Given the description of an element on the screen output the (x, y) to click on. 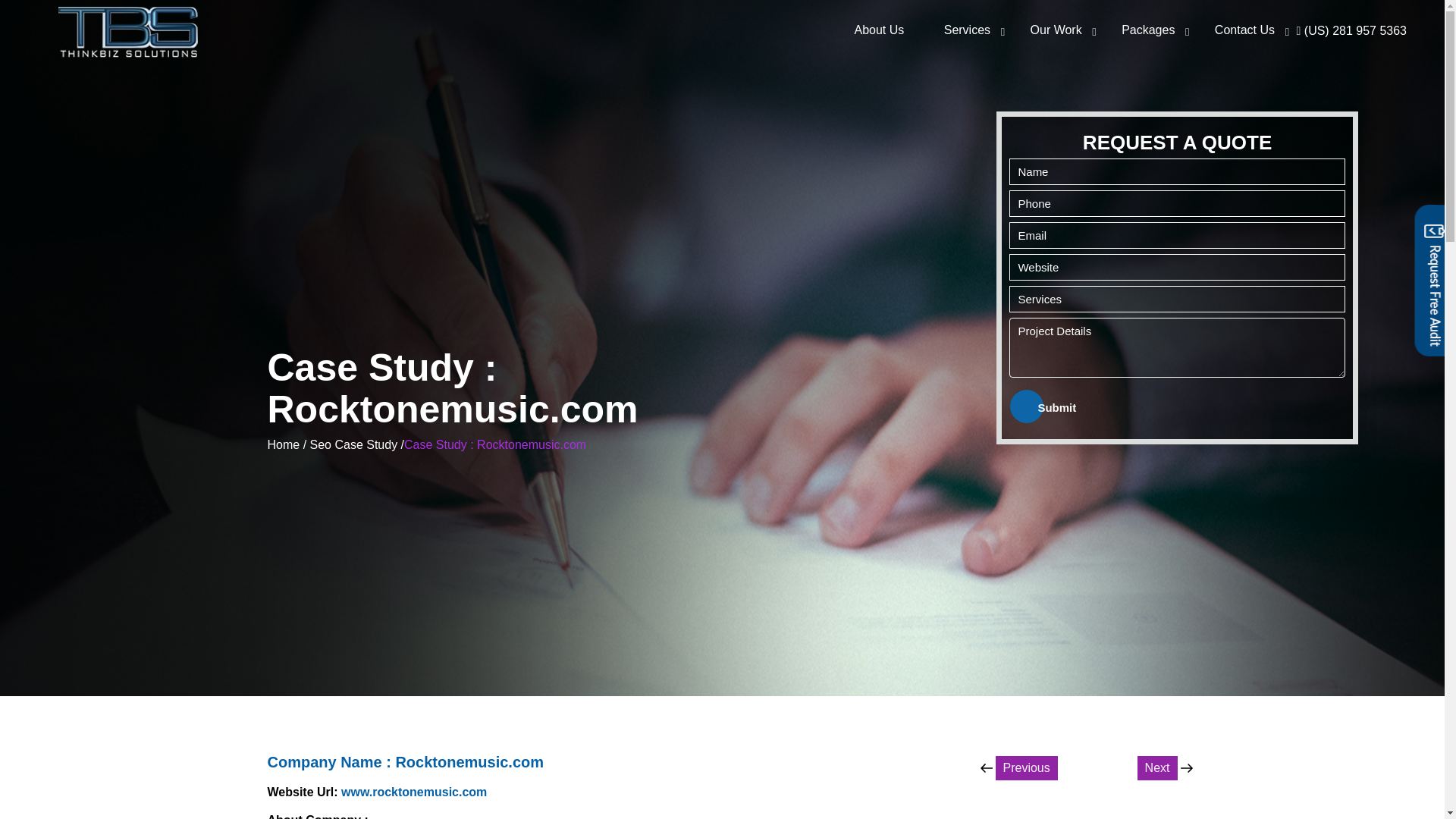
Submit (1056, 406)
Submit (1056, 406)
Contact Us (1131, 710)
About Us (1025, 710)
Packages (1244, 29)
Services (878, 29)
Our Work (1147, 29)
www.rocktonemusic.com (966, 29)
